Given the description of an element on the screen output the (x, y) to click on. 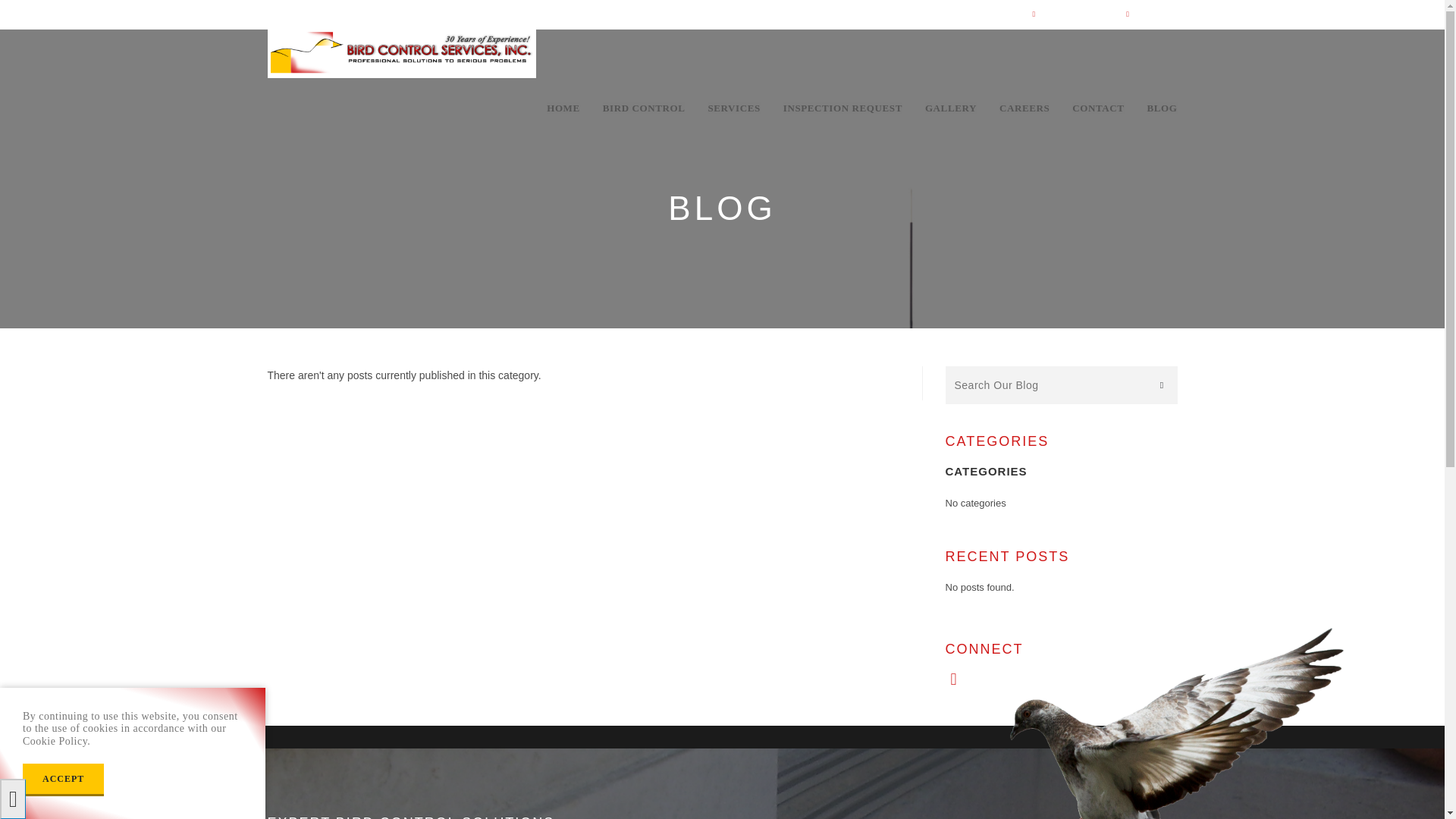
INSPECTION REQUEST (842, 108)
CONTACT (1098, 108)
BLOG (1162, 108)
BIRD CONTROL (644, 108)
GALLERY (951, 108)
HOME (563, 108)
Email Us (1158, 13)
CAREERS (1024, 108)
SERVICES (733, 108)
